Given the description of an element on the screen output the (x, y) to click on. 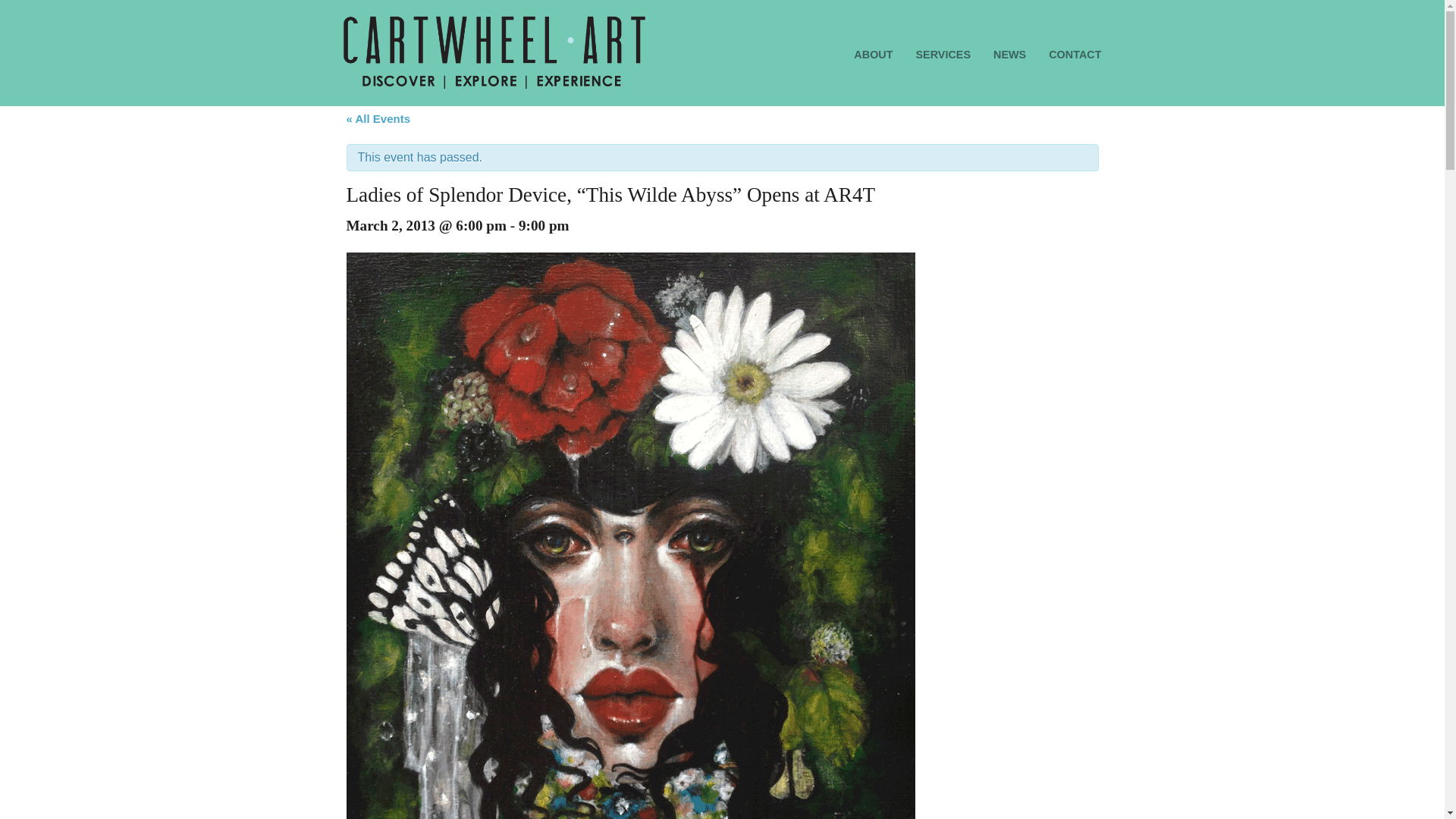
NEWS (1009, 54)
SERVICES (943, 54)
CONTACT (1074, 54)
ABOUT (872, 54)
